Given the description of an element on the screen output the (x, y) to click on. 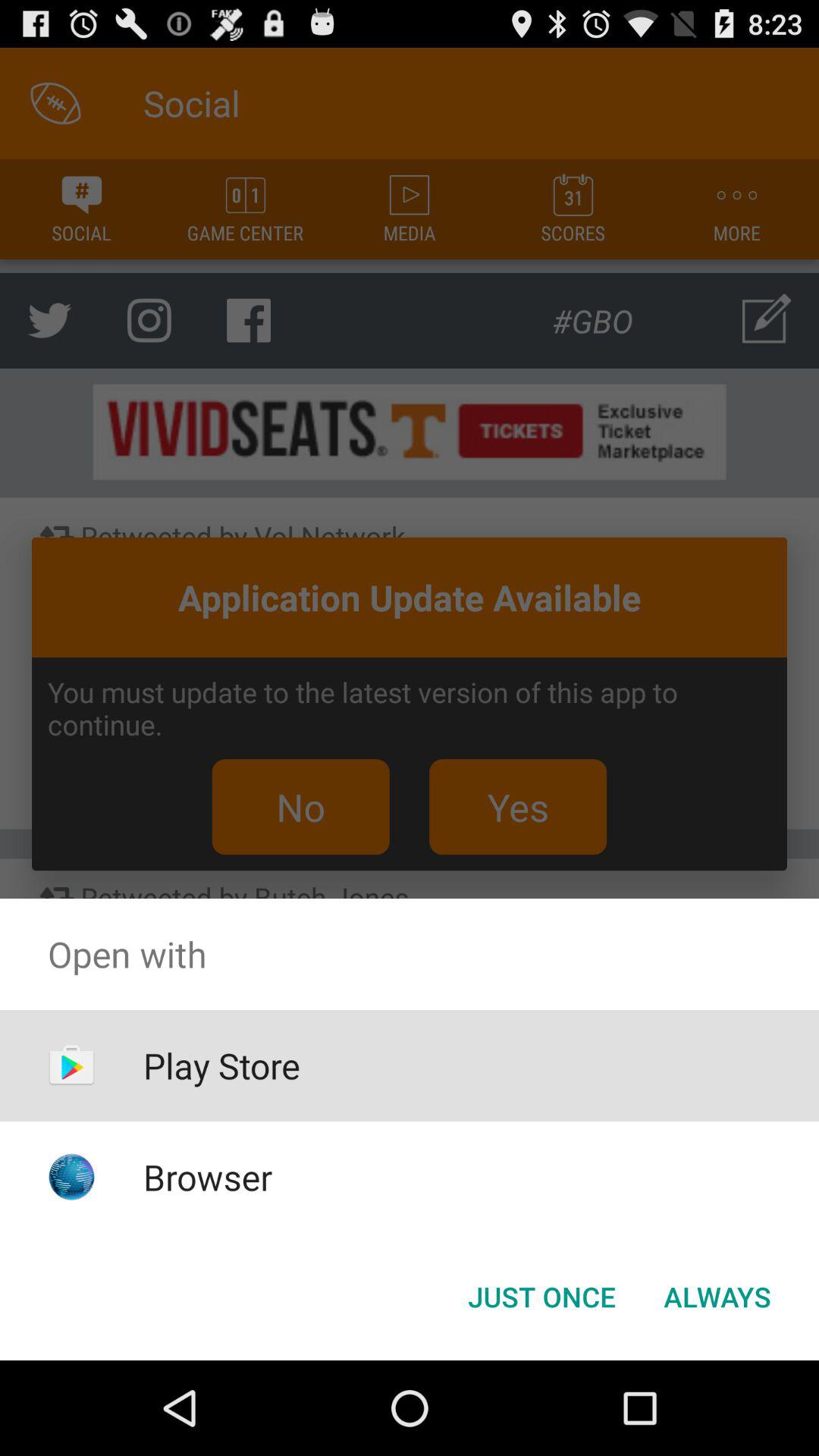
jump until the just once item (541, 1296)
